Given the description of an element on the screen output the (x, y) to click on. 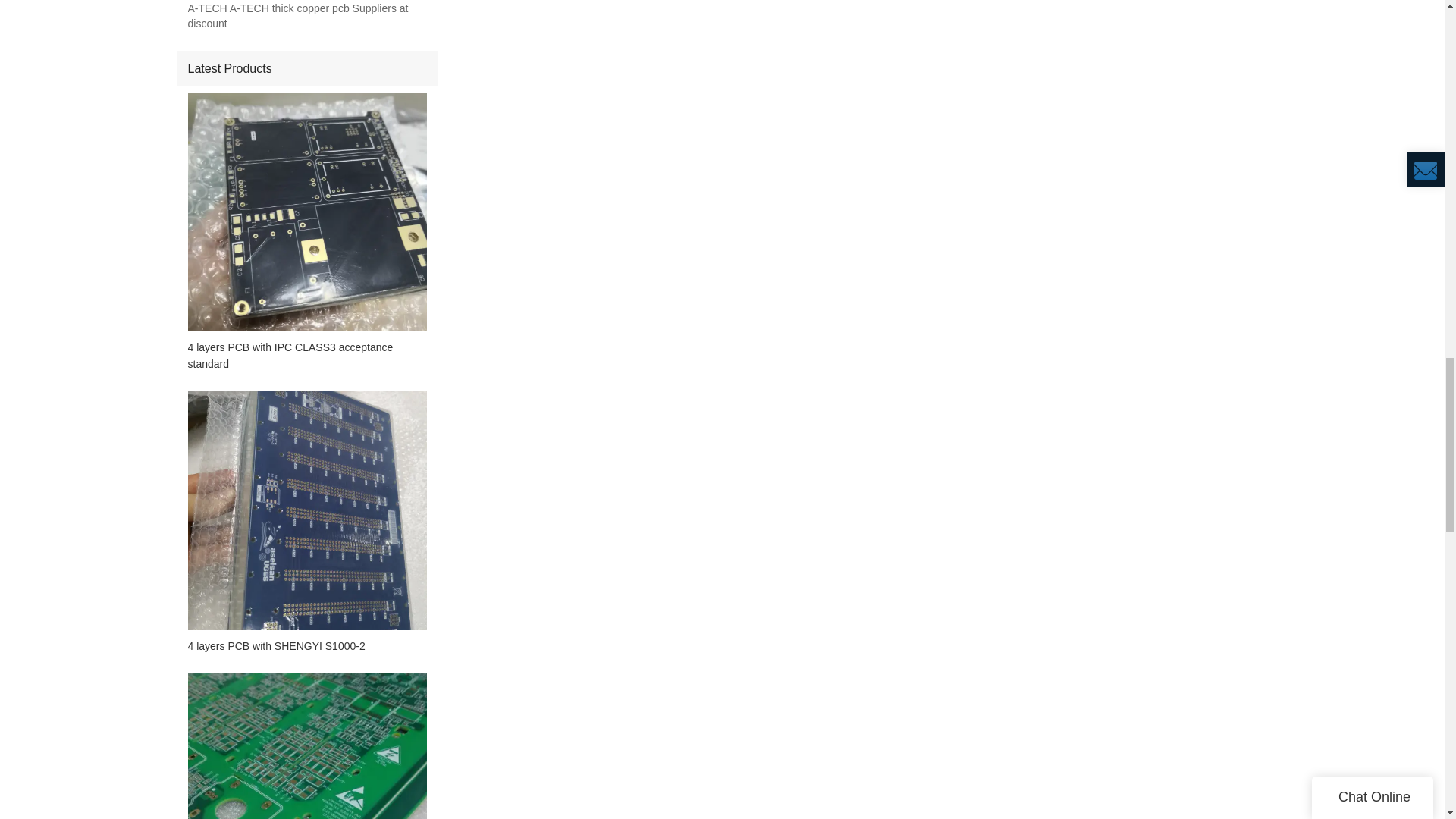
A-TECH A-TECH thick copper pcb Suppliers at discount (306, 16)
4 layers PCB with IPC CLASS3 acceptance standard (306, 355)
4 layers PCB with SHENGYI S1000-2 (306, 646)
